Given the description of an element on the screen output the (x, y) to click on. 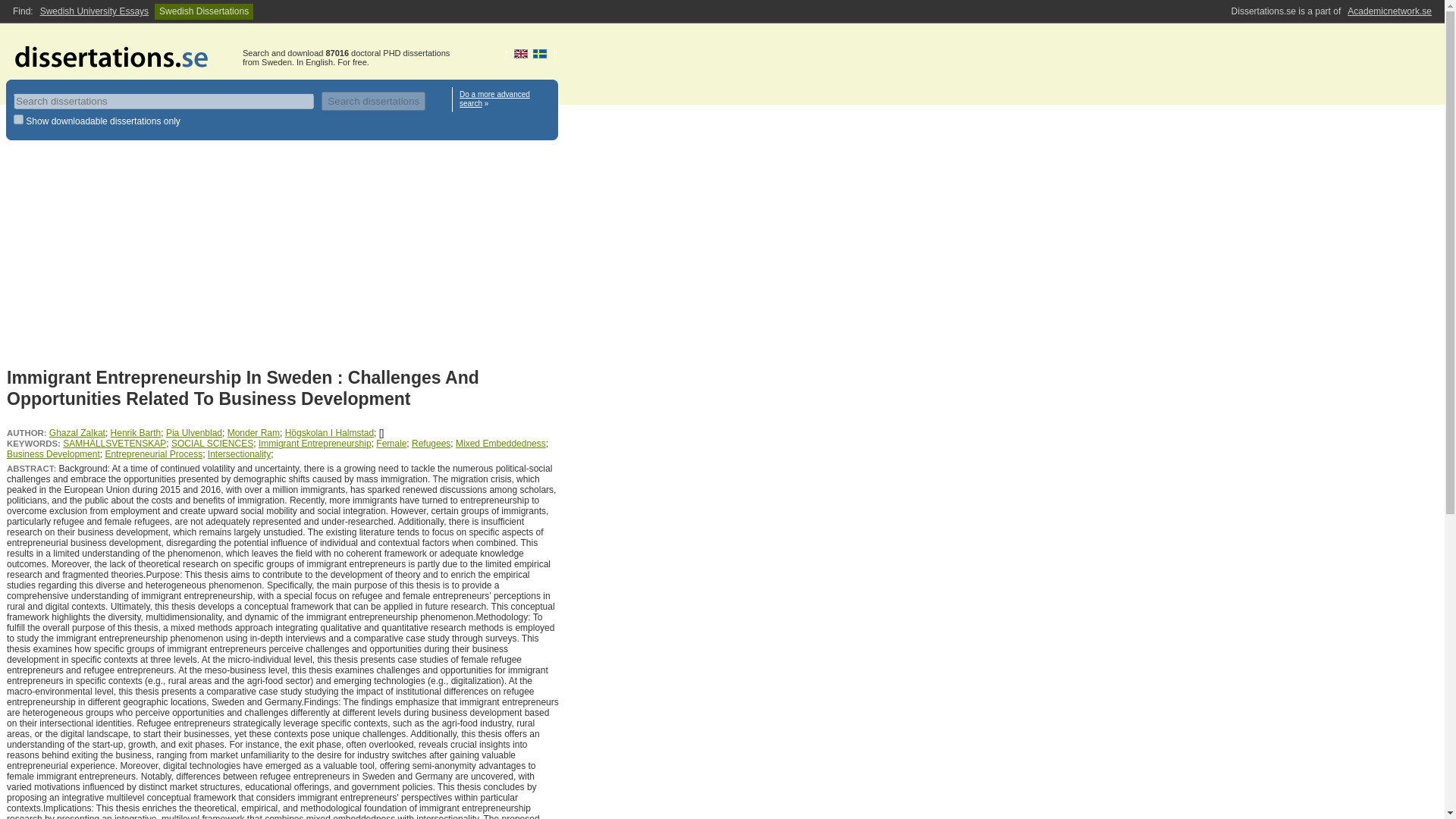
language: Swedish (539, 53)
Ghazal Zalkat (76, 432)
Monder Ram (253, 432)
Swedish Dissertations (203, 11)
Search dissertations (373, 100)
Advertisement (283, 257)
Intersectionality (239, 453)
Female (390, 443)
Entrepreneurial Process (153, 453)
y (18, 119)
Henrik Barth (135, 432)
Language: English (520, 53)
Pia Ulvenblad (193, 432)
SOCIAL SCIENCES (212, 443)
Academicnetwork.se (1388, 11)
